Given the description of an element on the screen output the (x, y) to click on. 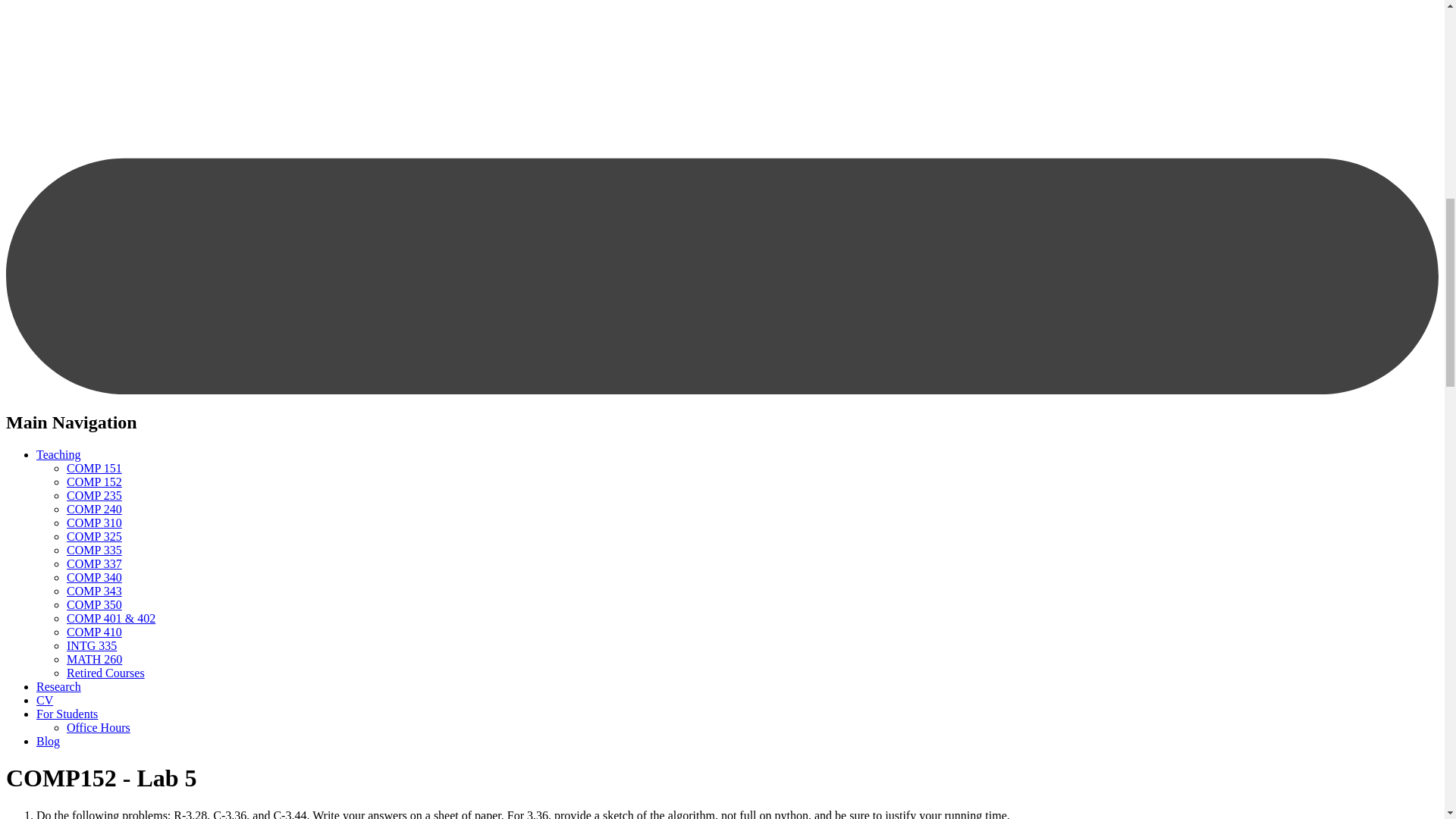
COMP 350 (94, 604)
COMP 240 (94, 508)
COMP 343 (94, 590)
Office Hours (98, 727)
INTG 335 (91, 645)
MATH 260 (94, 658)
COMP 325 (94, 535)
COMP 310 (94, 522)
COMP 235 (94, 495)
Retired Courses (105, 672)
Teaching (58, 454)
Blog (47, 740)
COMP 151 (94, 468)
COMP 410 (94, 631)
COMP 340 (94, 576)
